Given the description of an element on the screen output the (x, y) to click on. 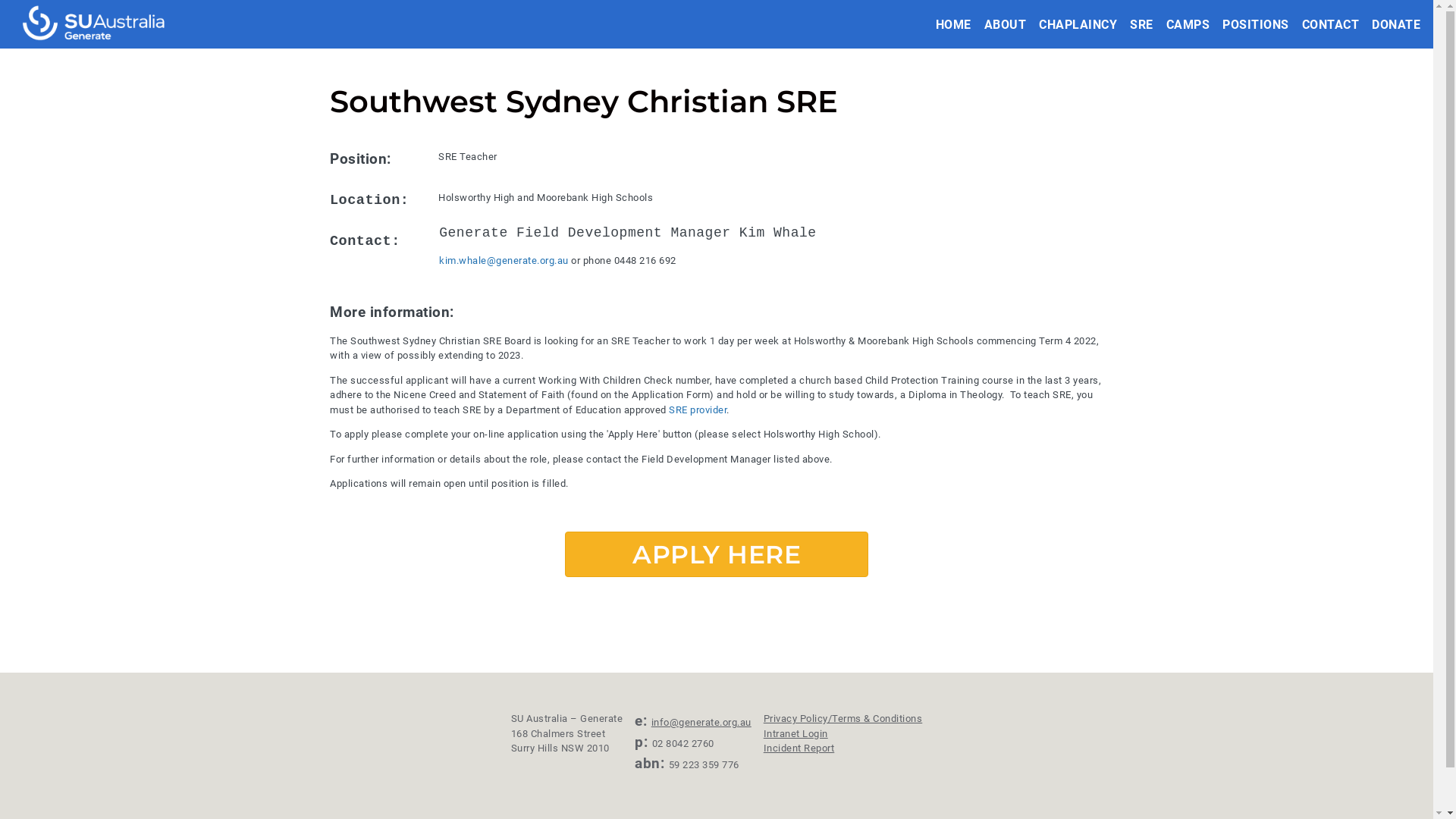
Intranet Login Element type: text (795, 733)
DONATE Element type: text (1395, 24)
HOME Element type: text (953, 24)
POSITIONS Element type: text (1255, 24)
ABOUT Element type: text (1005, 24)
APPLY HERE Element type: text (716, 554)
kim.whale@generate.org.au Element type: text (503, 260)
info@generate.org.au Element type: text (701, 722)
SRE Element type: text (1141, 24)
Incident Report Element type: text (798, 747)
Privacy Policy/Terms & Conditions Element type: text (842, 718)
CAMPS Element type: text (1188, 24)
CHAPLAINCY Element type: text (1077, 24)
CONTACT Element type: text (1329, 24)
SRE provider Element type: text (697, 409)
